Given the description of an element on the screen output the (x, y) to click on. 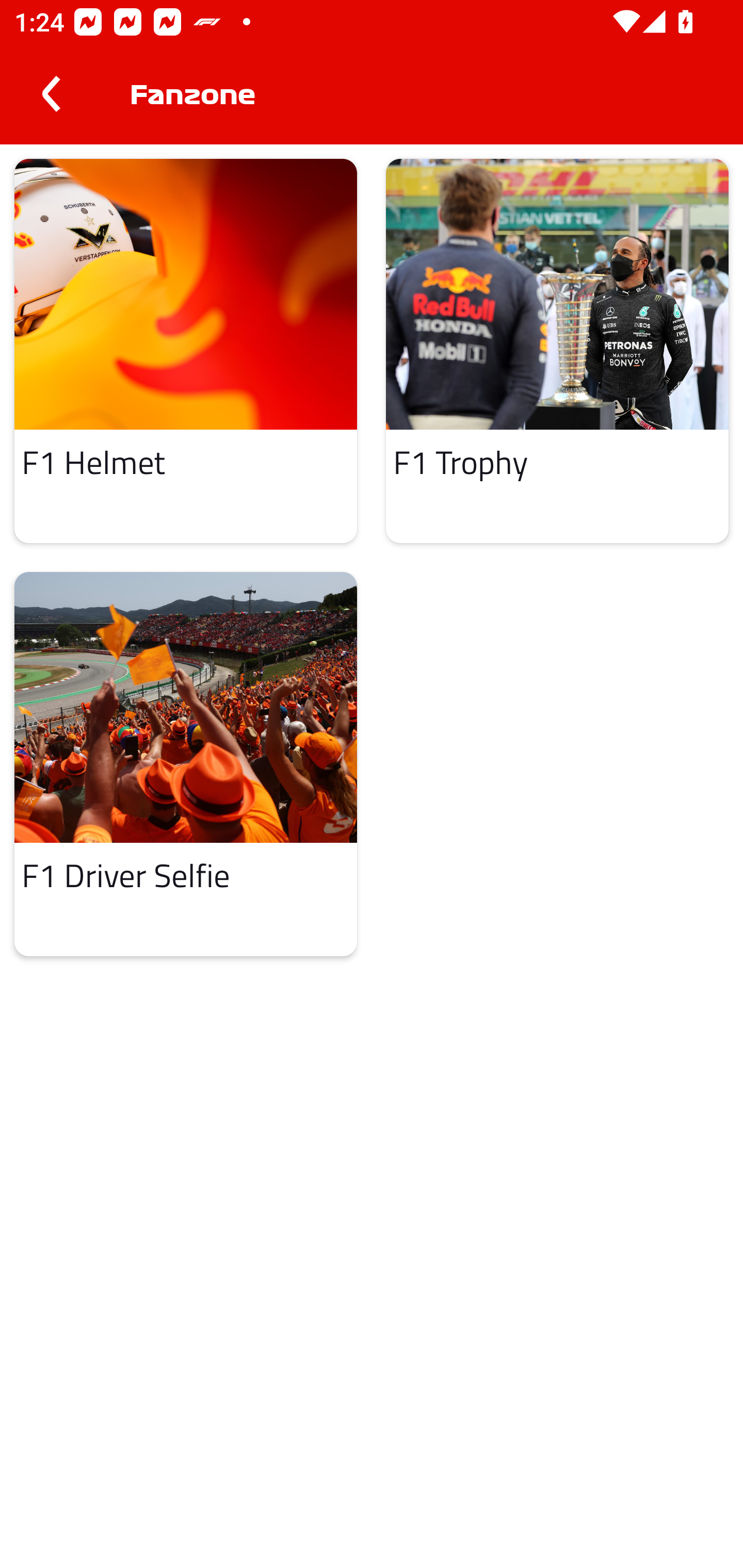
Navigate up (50, 93)
F1 Helmet (185, 350)
F1 Trophy (556, 350)
F1 Driver Selfie (185, 764)
